Given the description of an element on the screen output the (x, y) to click on. 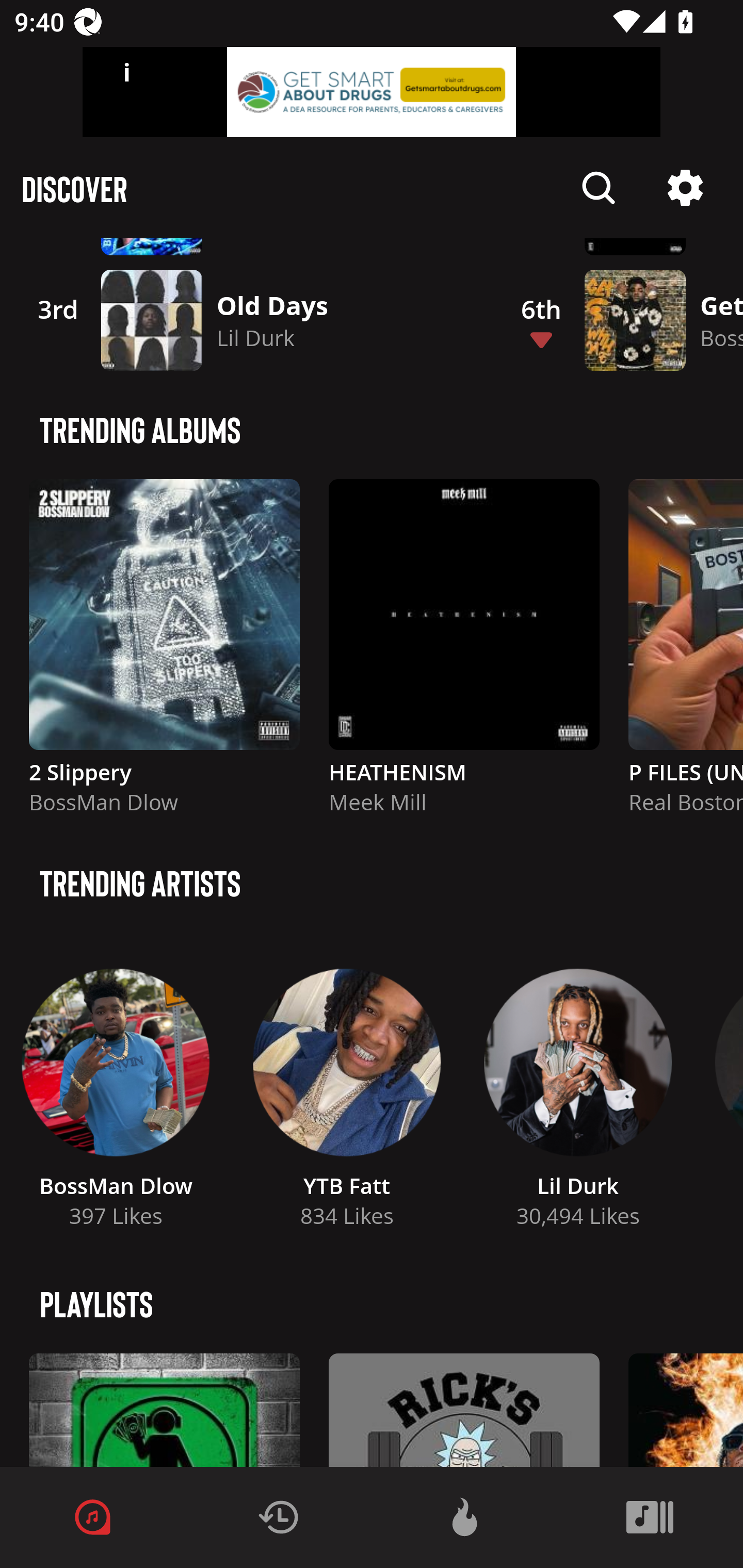
Description (598, 188)
Description (684, 188)
3rd Description Old Days Lil Durk (248, 319)
Description 2 Slippery BossMan Dlow (164, 655)
Description HEATHENISM Meek Mill (463, 655)
Description BossMan Dlow 397 Likes (115, 1091)
Description YTB Fatt 834 Likes (346, 1091)
Description Lil Durk 30,494 Likes (577, 1091)
